Given the description of an element on the screen output the (x, y) to click on. 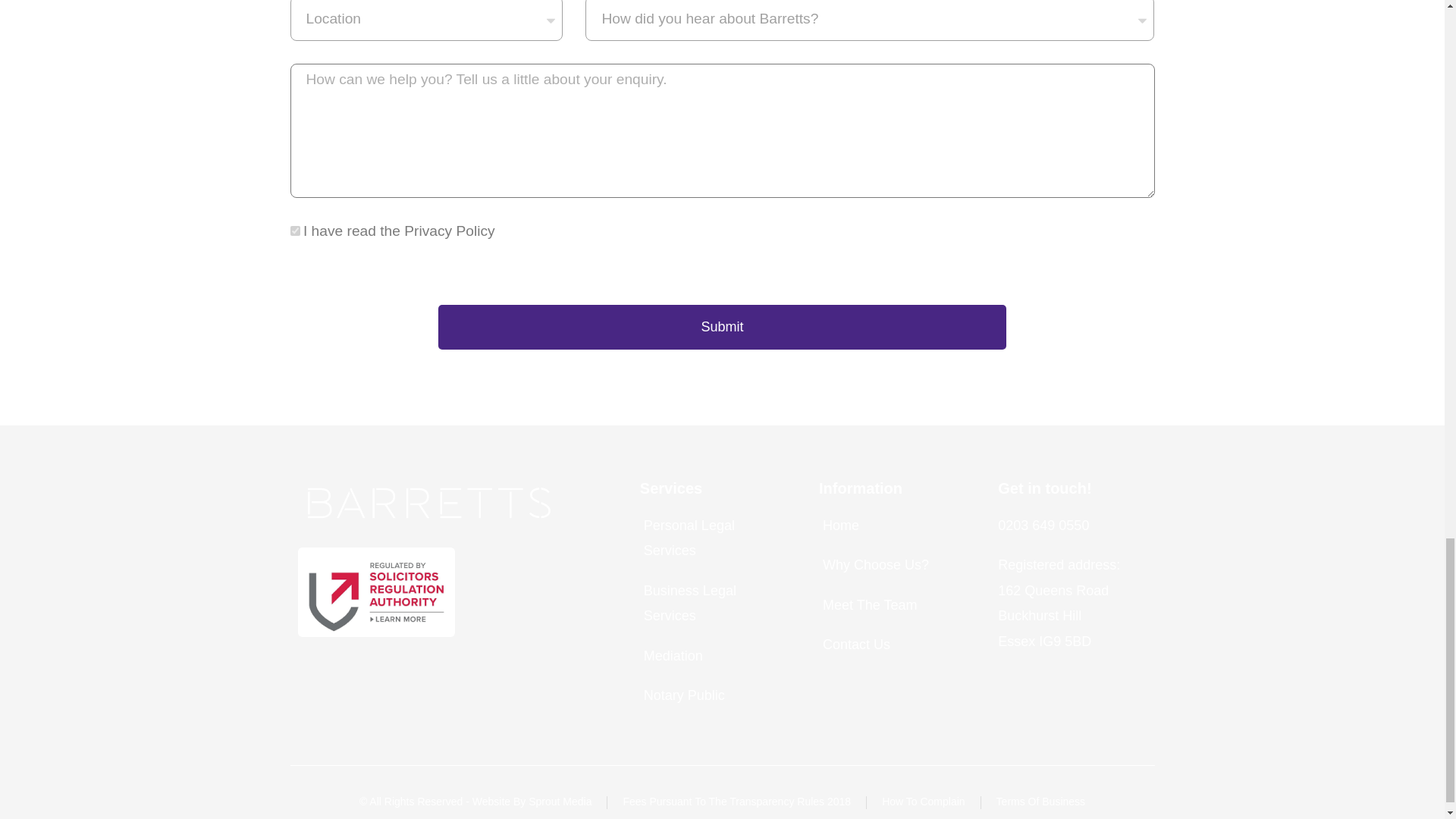
Business Legal Services (714, 603)
on (294, 230)
Submit (722, 326)
Mediation (714, 656)
Notary Public (714, 695)
Personal Legal Services (714, 538)
Home (893, 525)
